Given the description of an element on the screen output the (x, y) to click on. 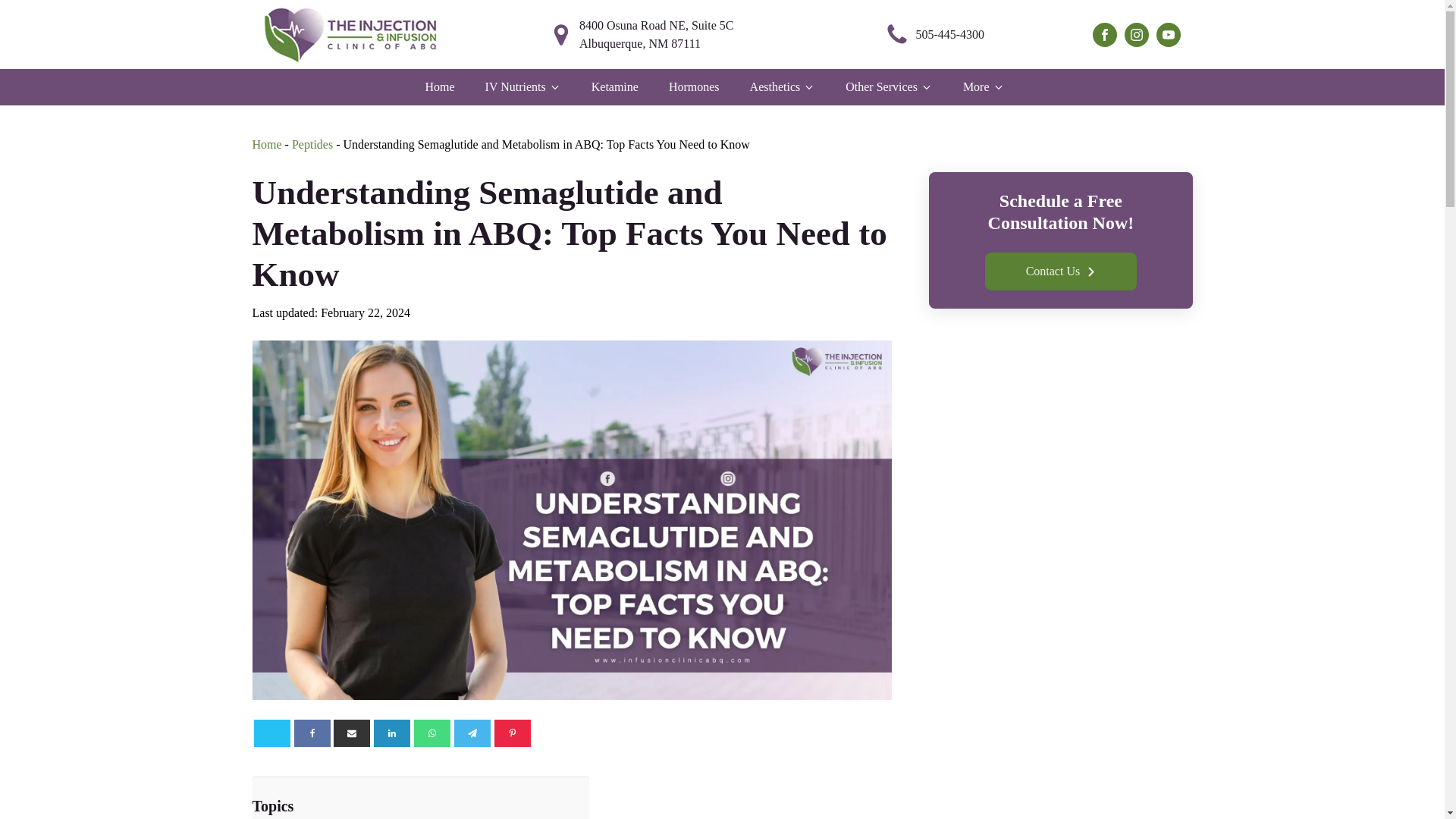
Home (266, 144)
Peptides (312, 144)
Other Services (889, 86)
8400 Osuna Road NE, Suite 5C Albuquerque, NM 87111 (662, 34)
More (983, 86)
505-445-4300 (934, 34)
Hormones (693, 86)
Ketamine (614, 86)
Home (438, 86)
Aesthetics (783, 86)
IV Nutrients (523, 86)
